Given the description of an element on the screen output the (x, y) to click on. 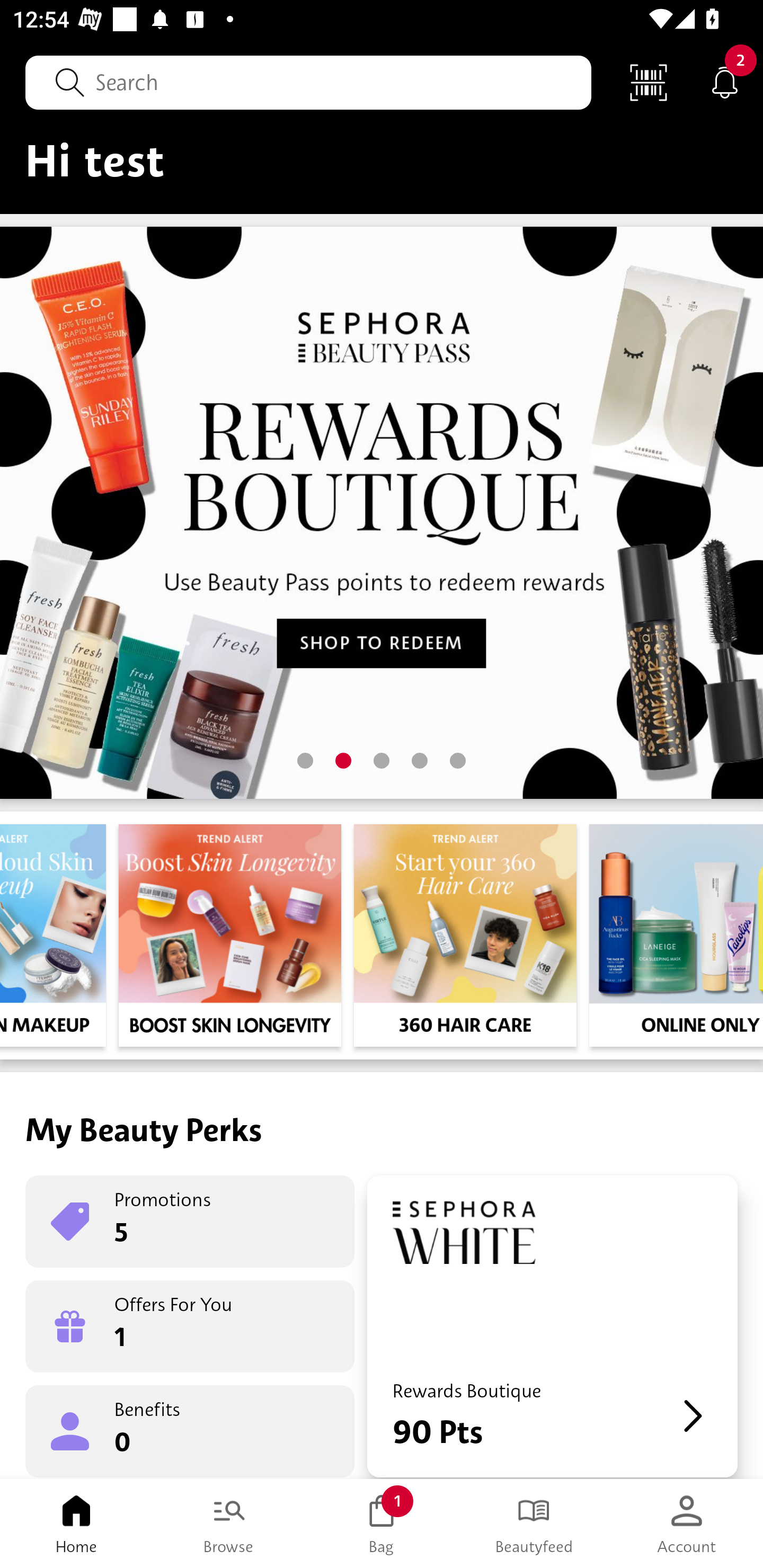
Scan Code (648, 81)
Notifications (724, 81)
Search (308, 81)
Promotions 5 (189, 1221)
Rewards Boutique 90 Pts (552, 1326)
Offers For You 1 (189, 1326)
Benefits 0 (189, 1430)
Browse (228, 1523)
Bag 1 Bag (381, 1523)
Beautyfeed (533, 1523)
Account (686, 1523)
